Given the description of an element on the screen output the (x, y) to click on. 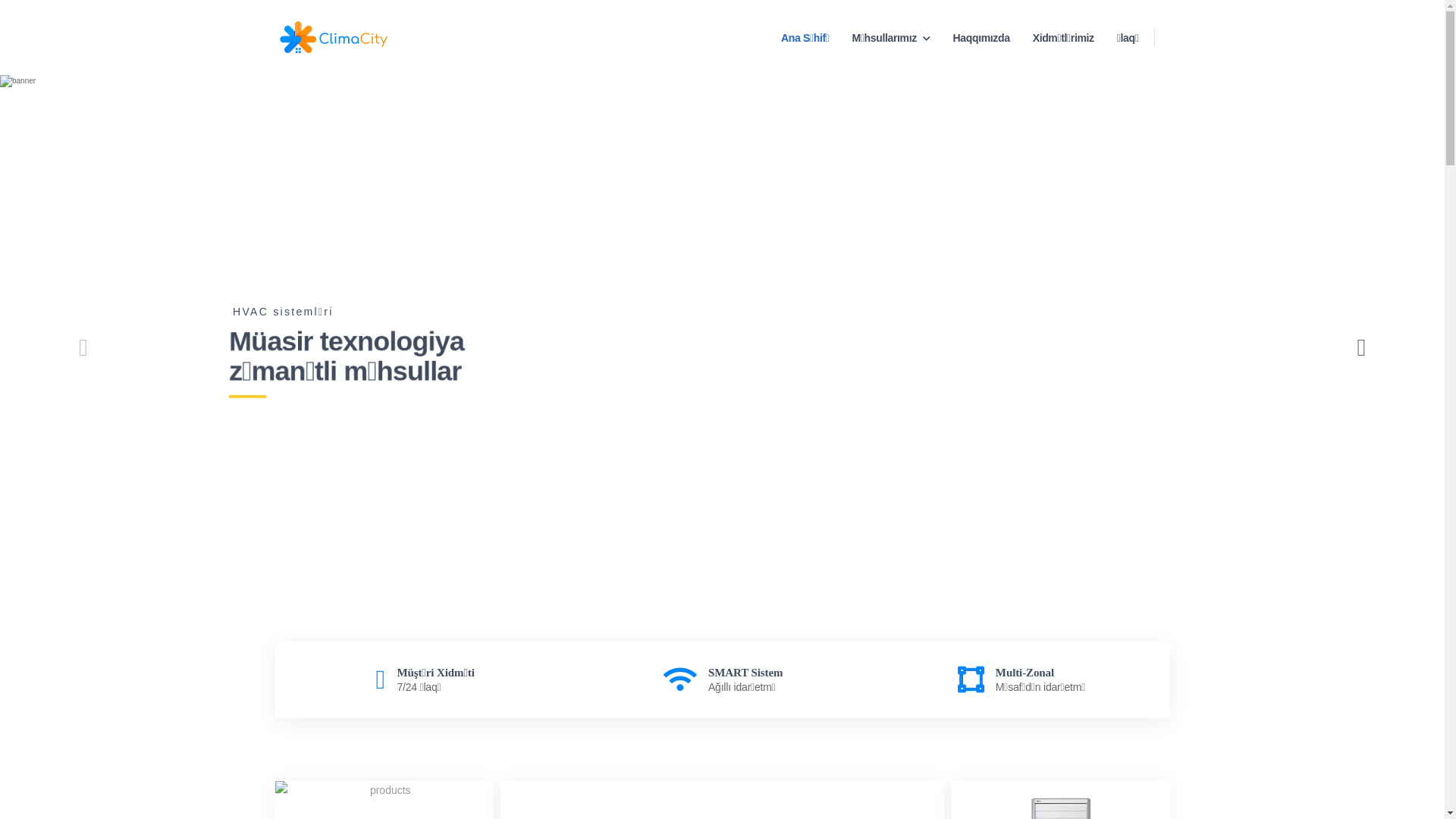
presentation Element type: hover (1361, 347)
presentation Element type: hover (83, 347)
